Given the description of an element on the screen output the (x, y) to click on. 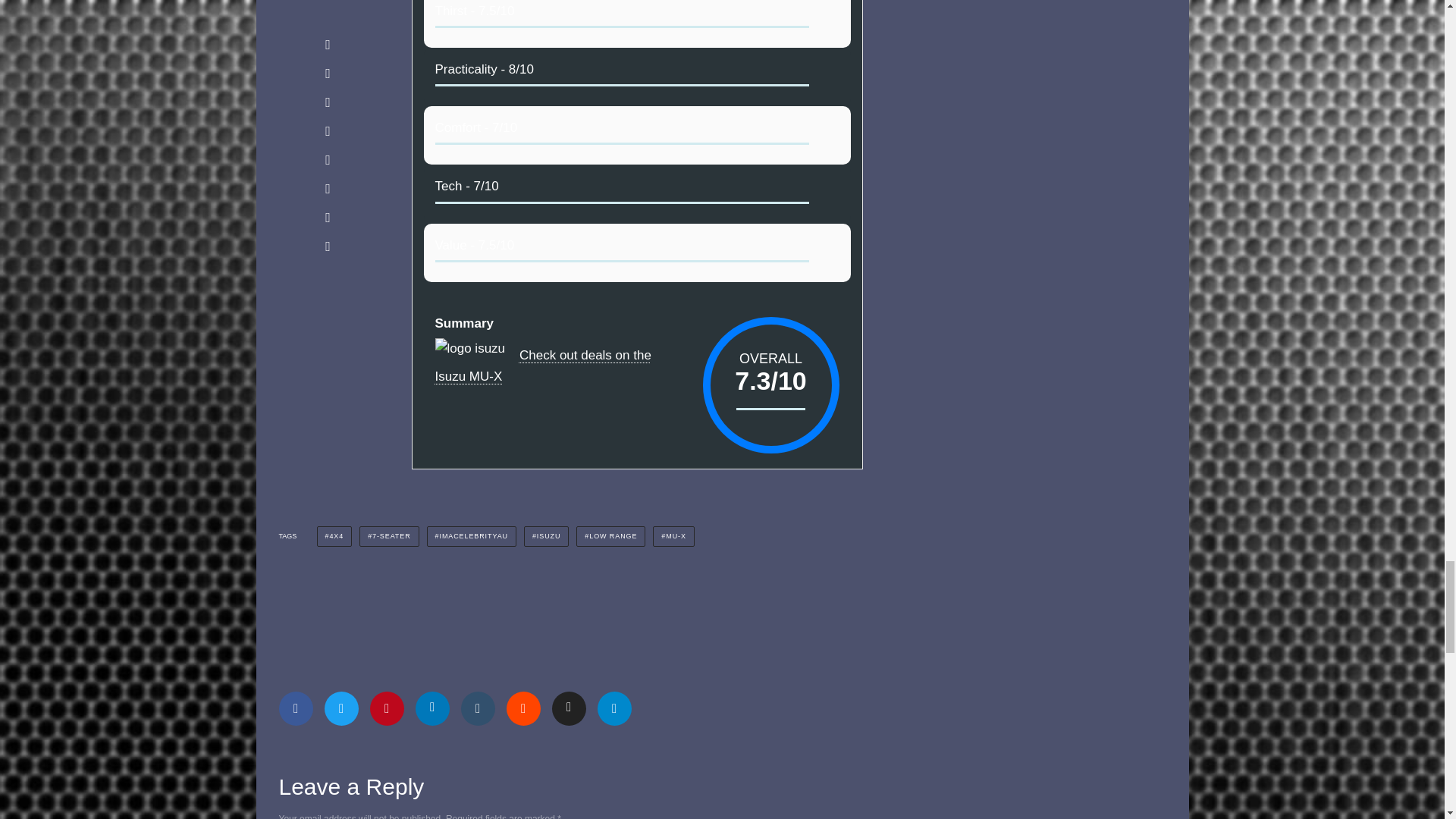
4X4 (334, 536)
7-SEATER (389, 536)
Check out deals on the Isuzu MU-X (542, 366)
